Given the description of an element on the screen output the (x, y) to click on. 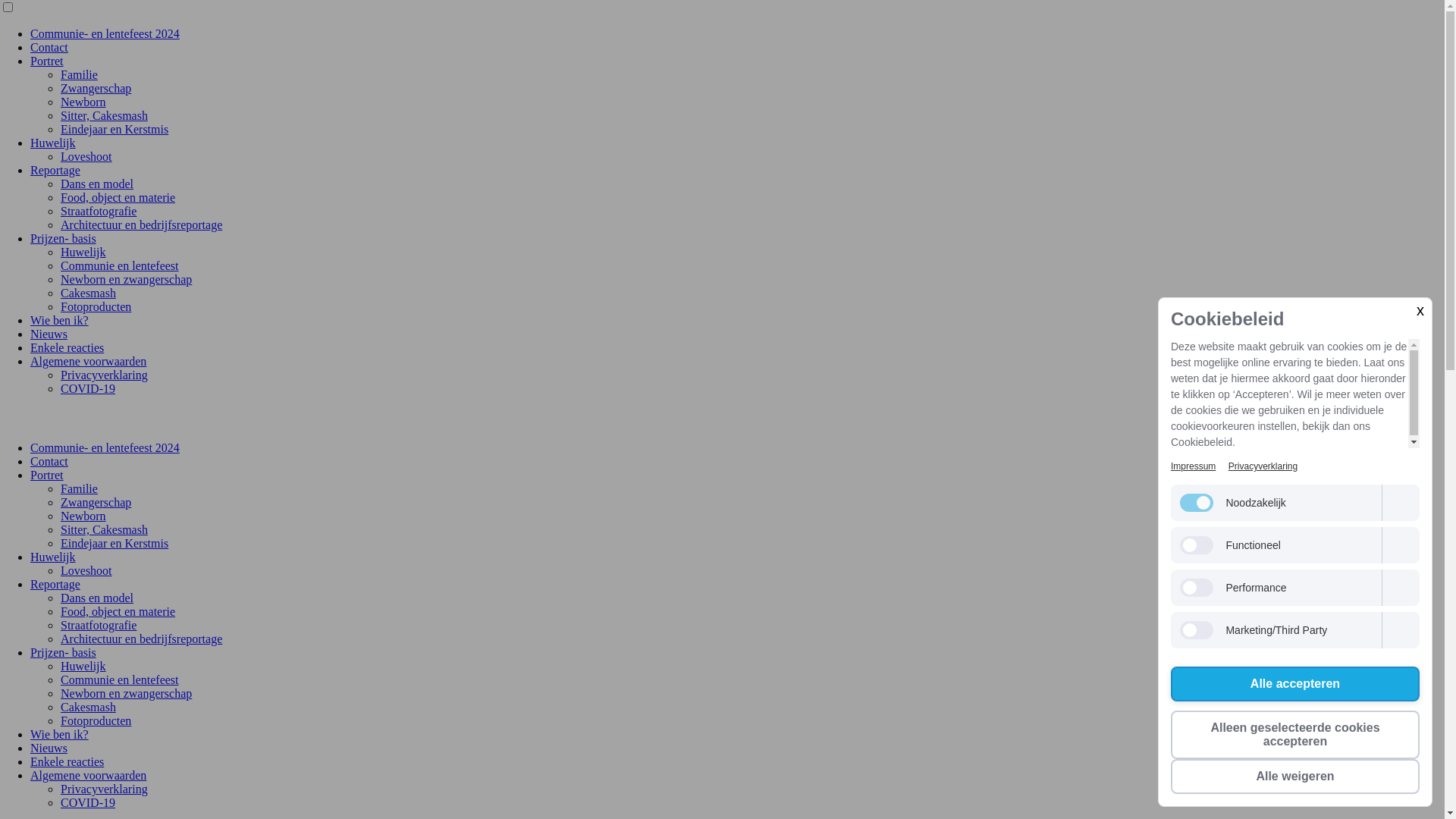
Communie- en lentefeest 2024 Element type: text (104, 447)
Cakesmash Element type: text (88, 292)
Loveshoot Element type: text (86, 156)
Eindejaar en Kerstmis Element type: text (114, 128)
Eindejaar en Kerstmis Element type: text (114, 542)
Reportage Element type: text (55, 169)
Enkele reacties Element type: text (66, 761)
Nieuws Element type: text (48, 747)
Huwelijk Element type: text (52, 142)
Fotoproducten Element type: text (95, 306)
Loveshoot Element type: text (86, 570)
Privacyverklaring Element type: text (103, 788)
Prijzen- basis Element type: text (63, 652)
Portret Element type: text (46, 474)
Fotoproducten Element type: text (95, 720)
Communie en lentefeest Element type: text (119, 679)
Cakesmash Element type: text (88, 706)
Newborn Element type: text (83, 101)
Alle weigeren Element type: text (1294, 776)
Privacyverklaring Element type: text (1262, 466)
Dans en model Element type: text (96, 597)
COVID-19 Element type: text (87, 802)
Zwangerschap Element type: text (95, 87)
Newborn en zwangerschap Element type: text (125, 693)
Huwelijk Element type: text (83, 251)
Contact Element type: text (49, 46)
Straatfotografie Element type: text (98, 624)
Familie Element type: text (78, 488)
COVID-19 Element type: text (87, 388)
Enkele reacties Element type: text (66, 347)
Food, object en materie Element type: text (117, 197)
Communie- en lentefeest 2024 Element type: text (104, 33)
Huwelijk Element type: text (52, 556)
Zwangerschap Element type: text (95, 501)
Alle accepteren Element type: text (1294, 683)
Wie ben ik? Element type: text (59, 319)
Wie ben ik? Element type: text (59, 734)
Portret Element type: text (46, 60)
Communie en lentefeest Element type: text (119, 265)
Sitter, Cakesmash Element type: text (103, 529)
Algemene voorwaarden Element type: text (88, 360)
Straatfotografie Element type: text (98, 210)
Familie Element type: text (78, 74)
Algemene voorwaarden Element type: text (88, 774)
Architectuur en bedrijfsreportage Element type: text (141, 638)
Alleen geselecteerde cookies accepteren Element type: text (1294, 734)
Nieuws Element type: text (48, 333)
Prijzen- basis Element type: text (63, 238)
Contact Element type: text (49, 461)
Newborn Element type: text (83, 515)
Dans en model Element type: text (96, 183)
Impressum Element type: text (1192, 466)
Sitter, Cakesmash Element type: text (103, 115)
Food, object en materie Element type: text (117, 611)
Huwelijk Element type: text (83, 665)
Newborn en zwangerschap Element type: text (125, 279)
Reportage Element type: text (55, 583)
Privacyverklaring Element type: text (103, 374)
Architectuur en bedrijfsreportage Element type: text (141, 224)
